Given the description of an element on the screen output the (x, y) to click on. 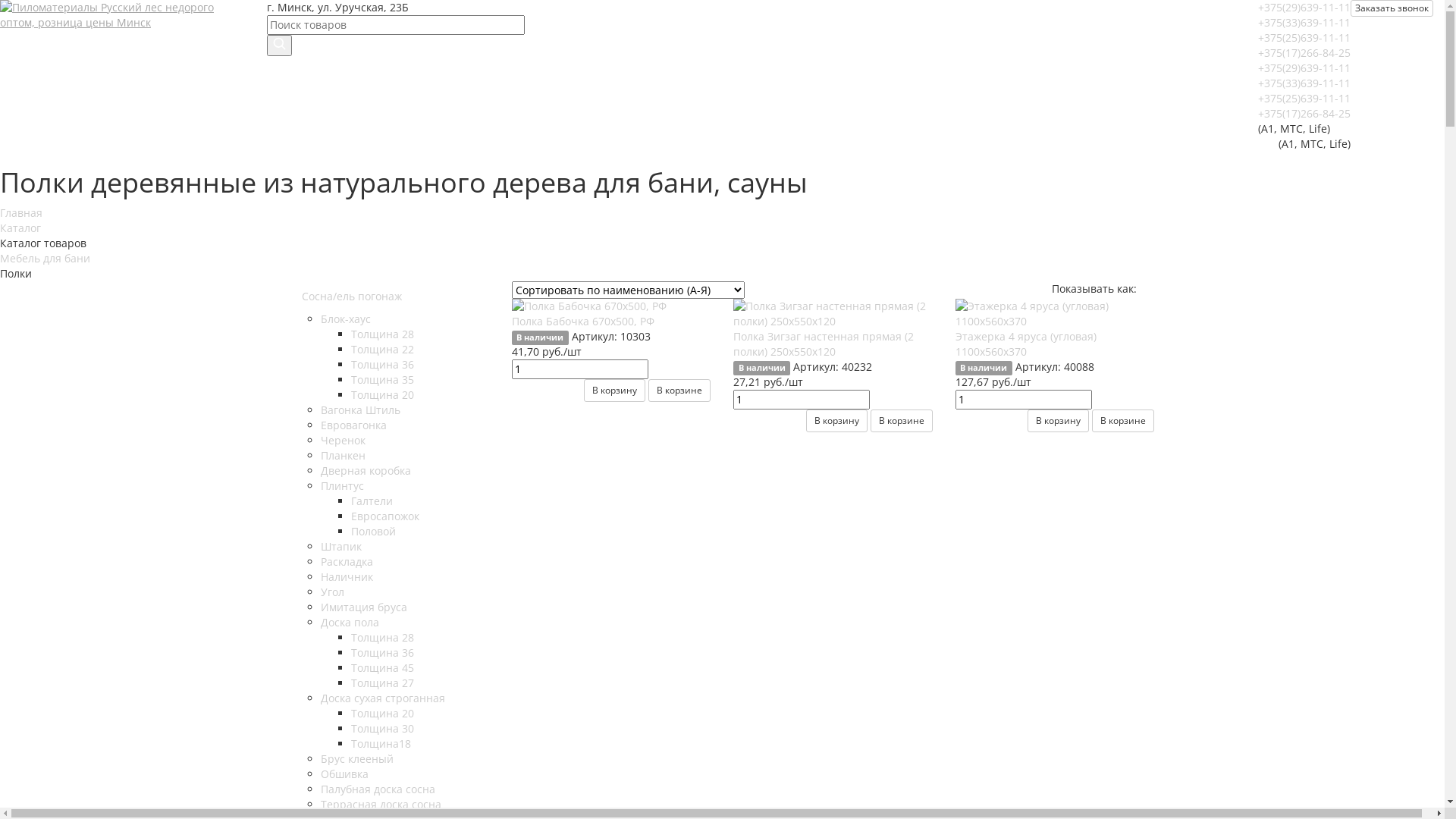
+375(33)639-11-11 Element type: text (1304, 22)
  Element type: text (1152, 288)
+375(29)639-11-11 Element type: text (1304, 67)
+375(33)639-11-11 Element type: text (1304, 82)
+375(17)266-84-25 Element type: text (1304, 113)
  Element type: text (1148, 288)
+375(25)639-11-11 Element type: text (1304, 98)
+375(29)639-11-11 Element type: text (1304, 7)
  Element type: text (1142, 288)
+375(17)266-84-25 Element type: text (1304, 52)
+375(25)639-11-11 Element type: text (1304, 37)
